Given the description of an element on the screen output the (x, y) to click on. 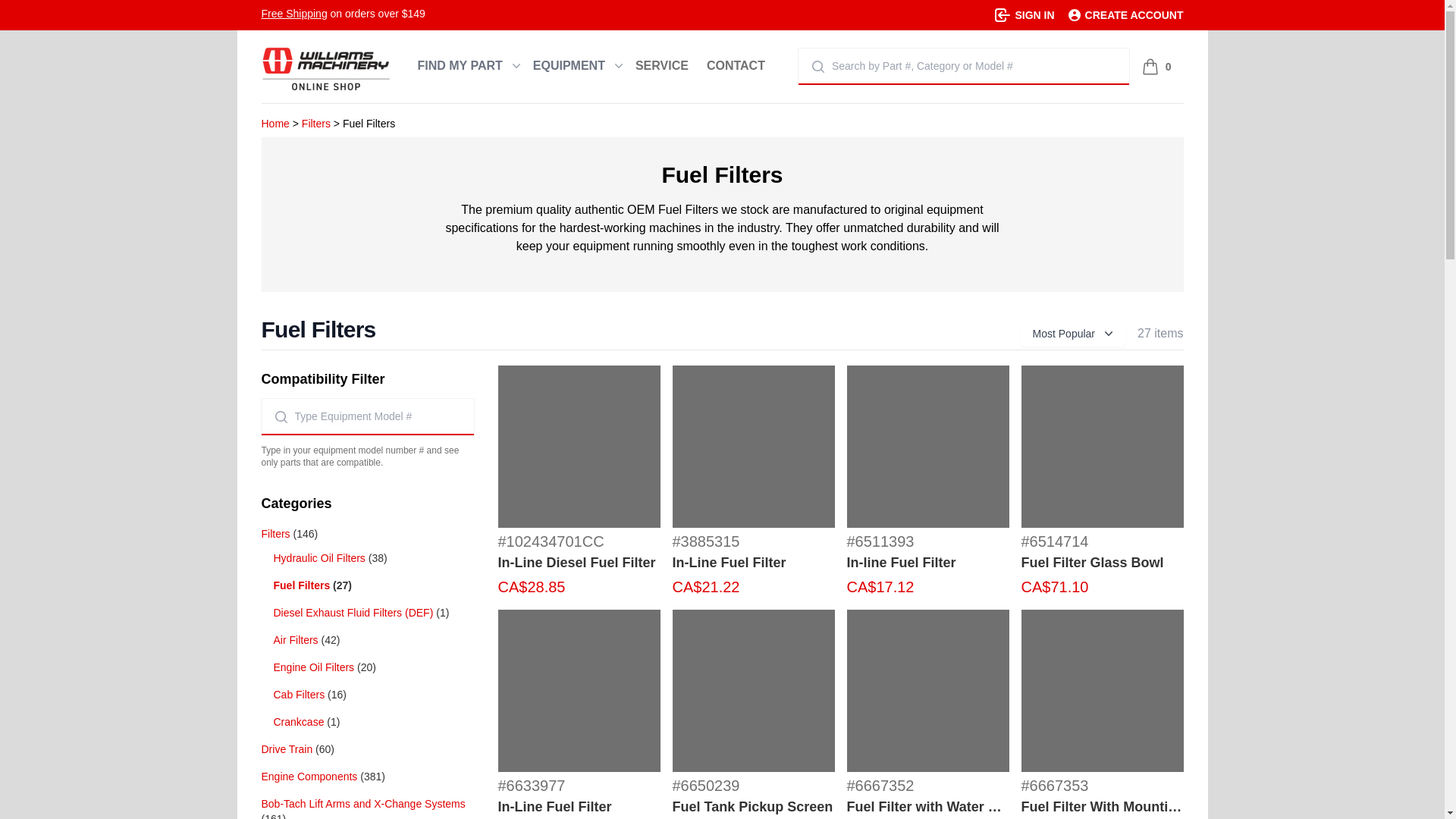
SIGN IN (1023, 14)
Free Shipping (293, 13)
CONTACT (735, 66)
FIND MY PART (464, 66)
SERVICE (661, 66)
EQUIPMENT (575, 66)
CREATE ACCOUNT (1125, 14)
0 (1156, 66)
Home (274, 123)
Filters (315, 123)
